Given the description of an element on the screen output the (x, y) to click on. 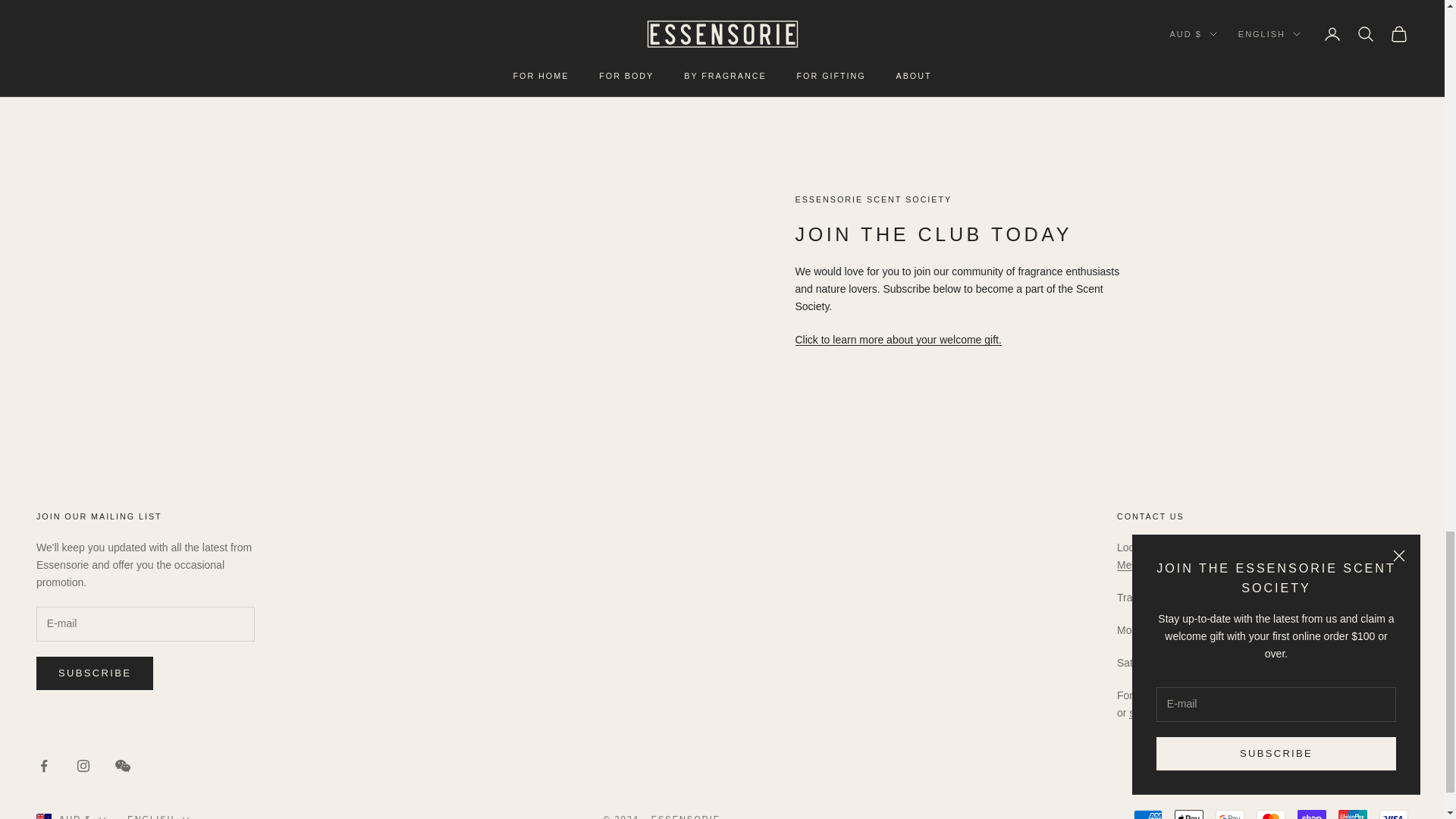
Join The Club Today (897, 339)
Contact Us (1169, 712)
